Given the description of an element on the screen output the (x, y) to click on. 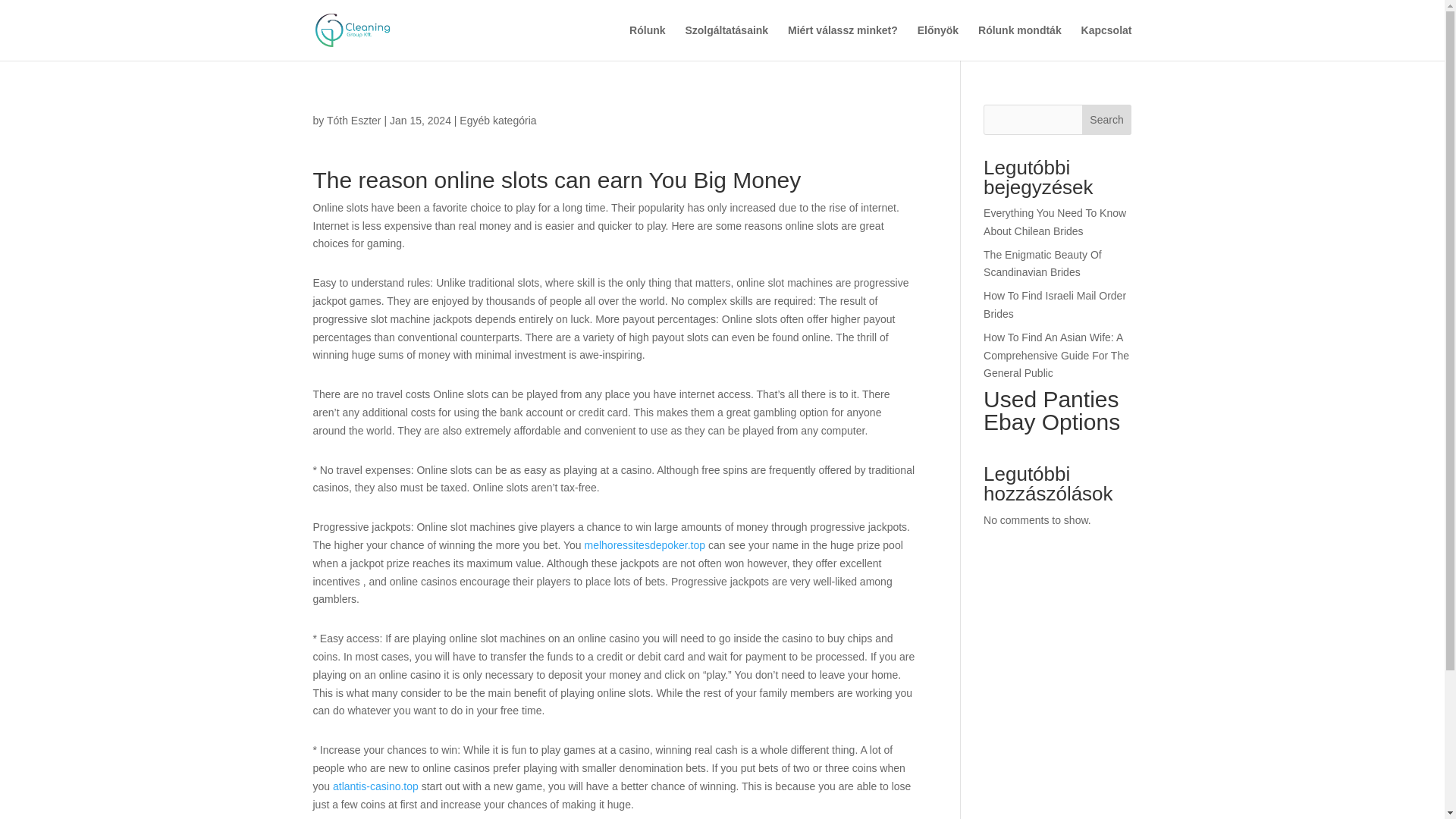
How To Find Israeli Mail Order Brides (1054, 304)
The Enigmatic Beauty Of Scandinavian Brides (1043, 263)
Everything You Need To Know About Chilean Brides (1054, 222)
melhoressitesdepoker.top (645, 544)
atlantis-casino.top (376, 786)
Used Panties Ebay Options (1057, 414)
Kapcsolat (1106, 42)
Search (1106, 119)
